Given the description of an element on the screen output the (x, y) to click on. 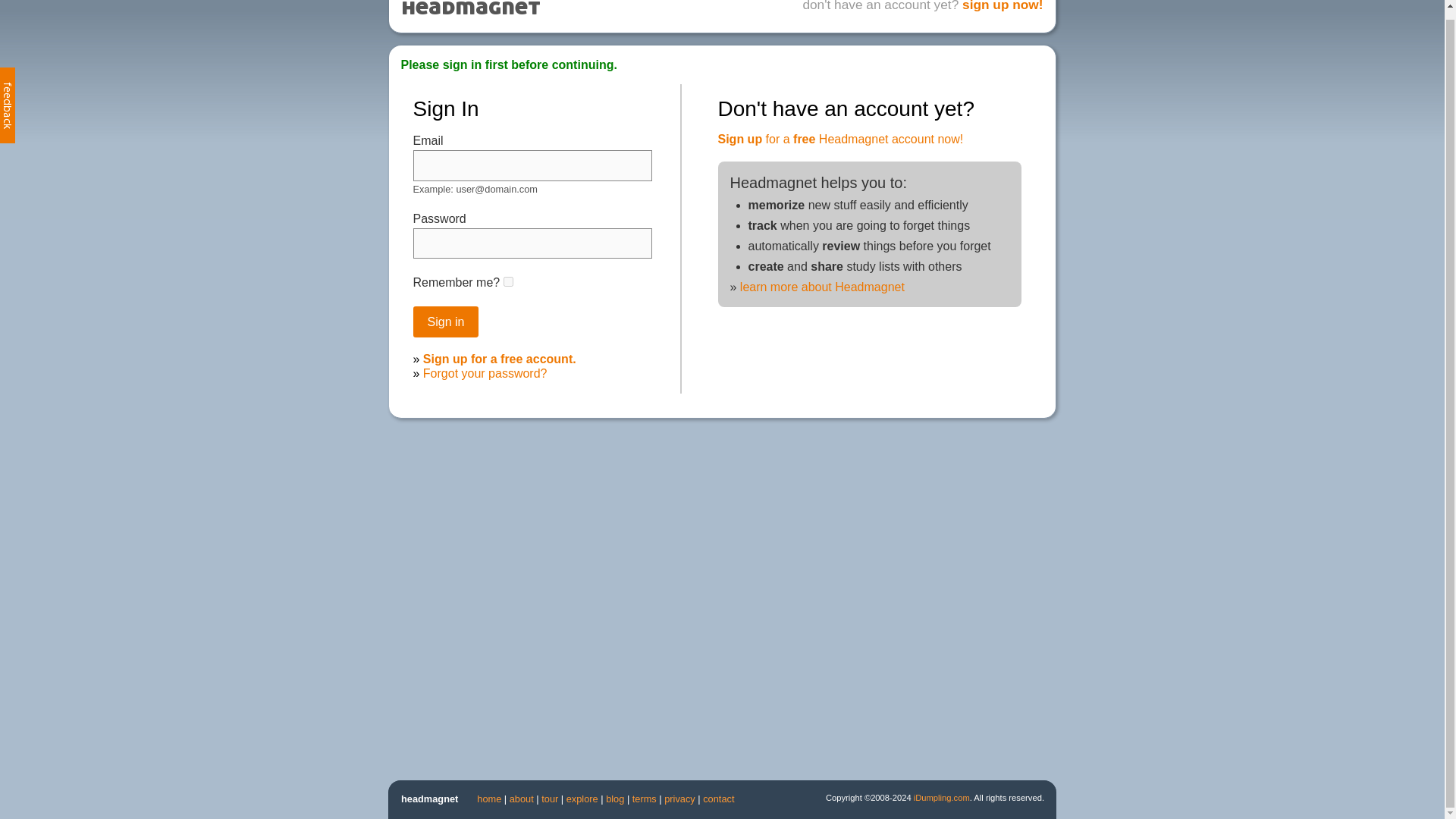
contact (718, 798)
about (521, 798)
terms (643, 798)
Sign up for a free account. (499, 358)
Forgot your password? (485, 373)
1 (508, 281)
blog (614, 798)
home (488, 798)
privacy (679, 798)
Sign up for a free Headmagnet account now! (839, 138)
Sign in (445, 321)
headmagnet (429, 798)
tour (549, 798)
learn more about Headmagnet (821, 286)
sign up now! (1002, 6)
